Given the description of an element on the screen output the (x, y) to click on. 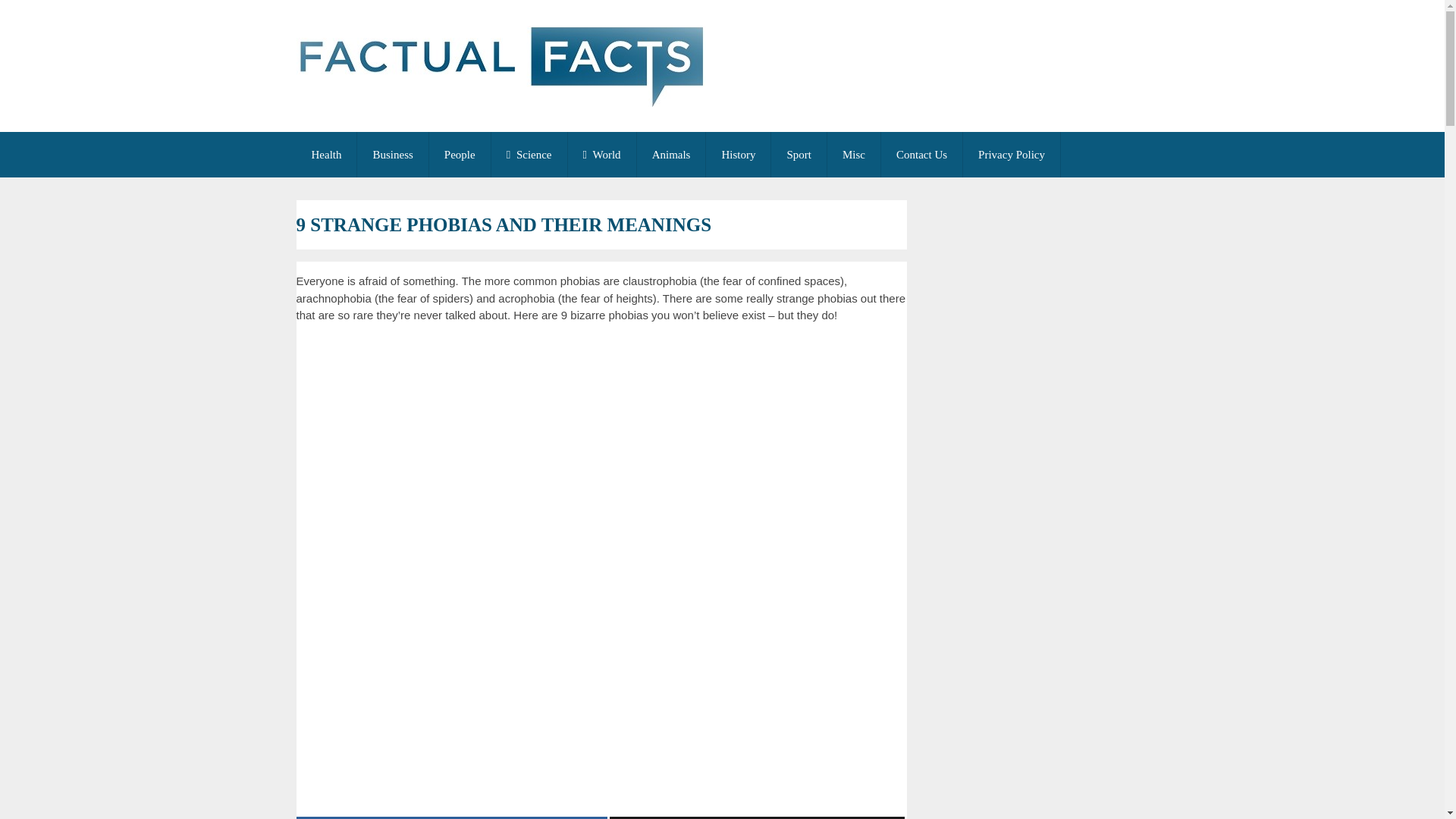
Science Facts (529, 154)
People (459, 154)
Misc (853, 154)
History (738, 154)
Animals (671, 154)
Business (392, 154)
Contact Us (921, 154)
Science (529, 154)
